Given the description of an element on the screen output the (x, y) to click on. 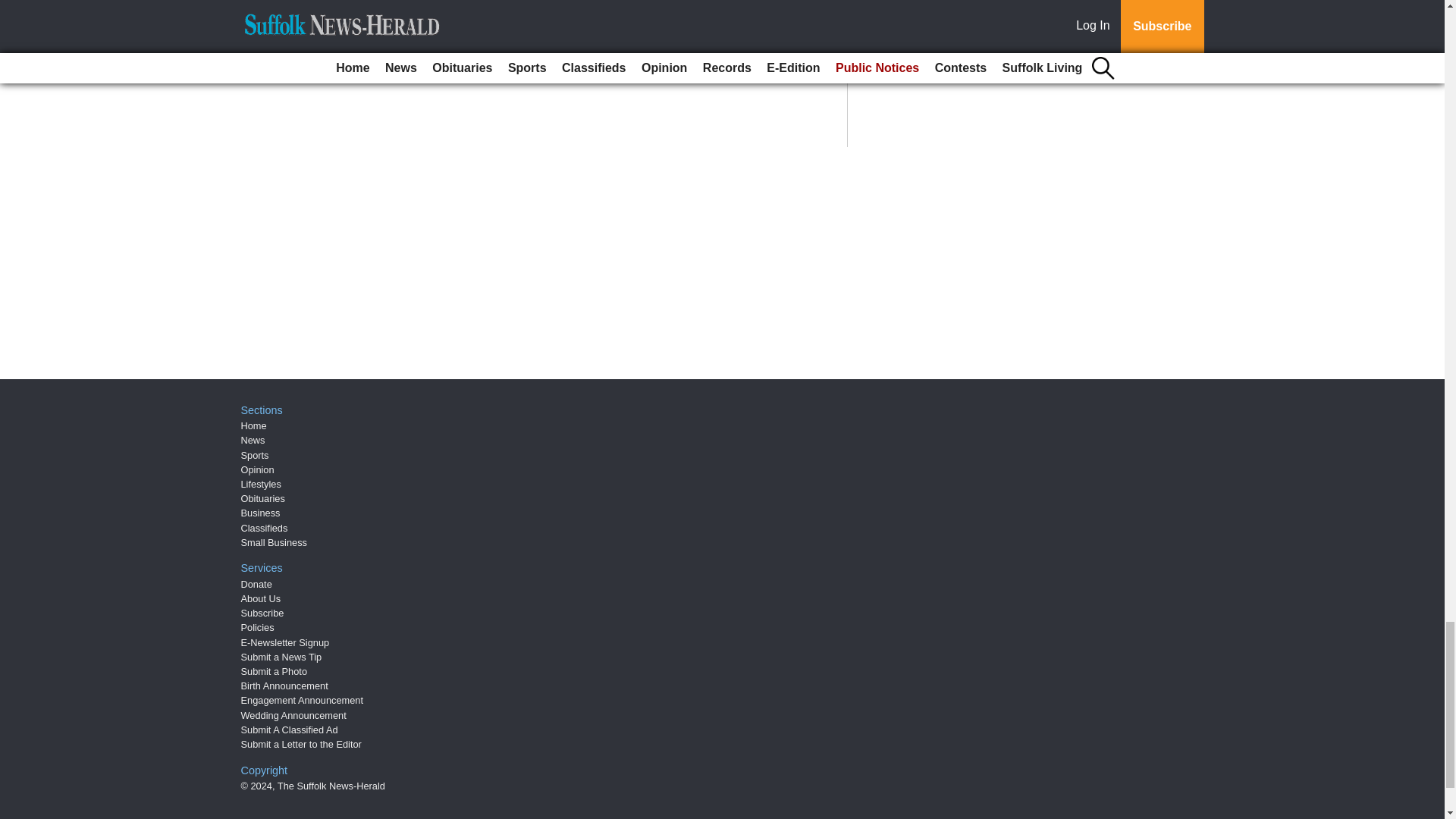
News (252, 439)
Sports (255, 455)
Opinion (258, 469)
Lifestyles (261, 483)
Obituaries (263, 498)
Business (261, 512)
Home (253, 425)
